Given the description of an element on the screen output the (x, y) to click on. 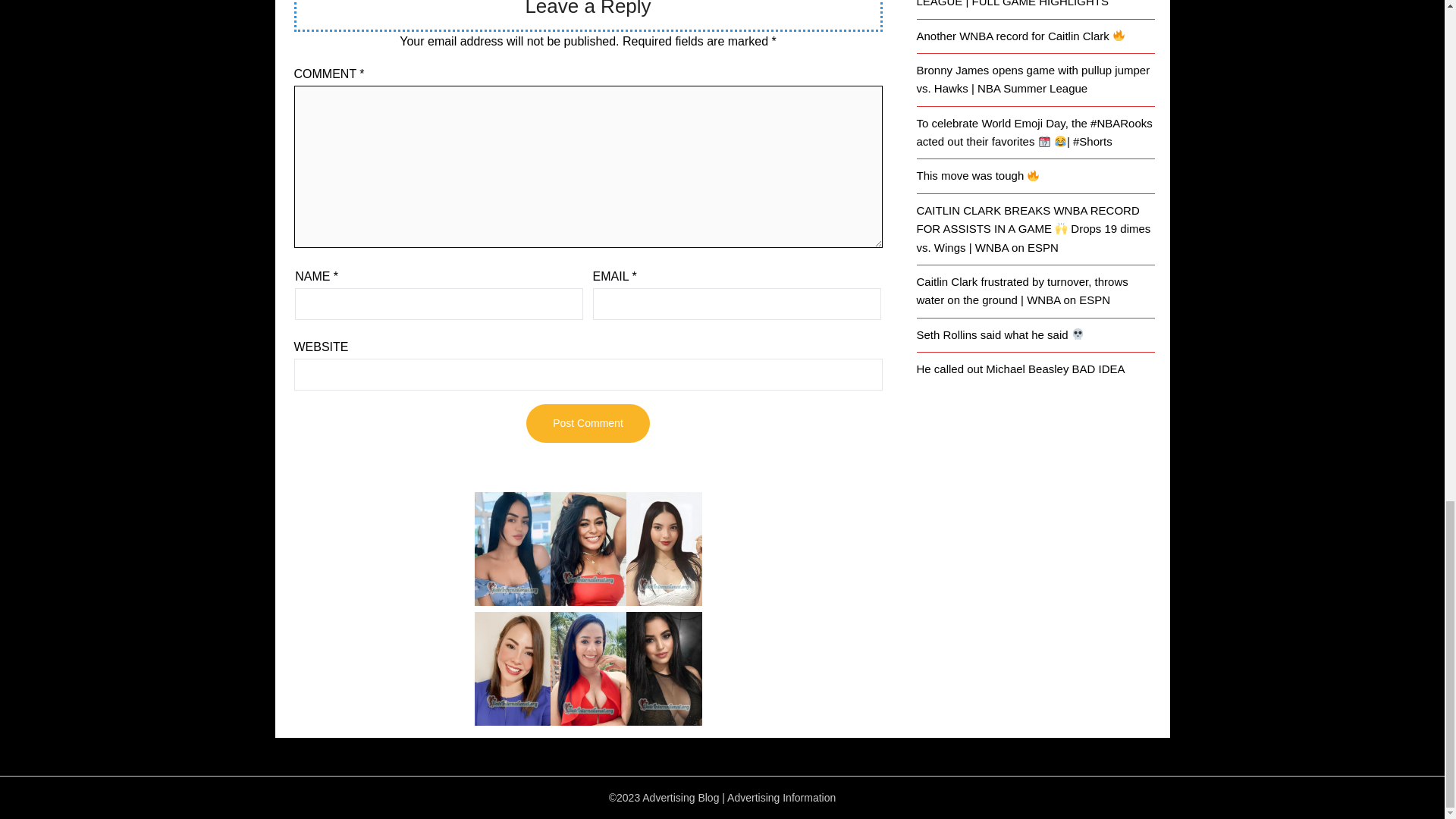
Another WNBA record for Caitlin Clark (1020, 35)
Seth Rollins said what he said (999, 334)
Post Comment (587, 423)
This move was tough (977, 174)
Post Comment (587, 423)
He called out Michael Beasley BAD IDEA (1019, 368)
